Given the description of an element on the screen output the (x, y) to click on. 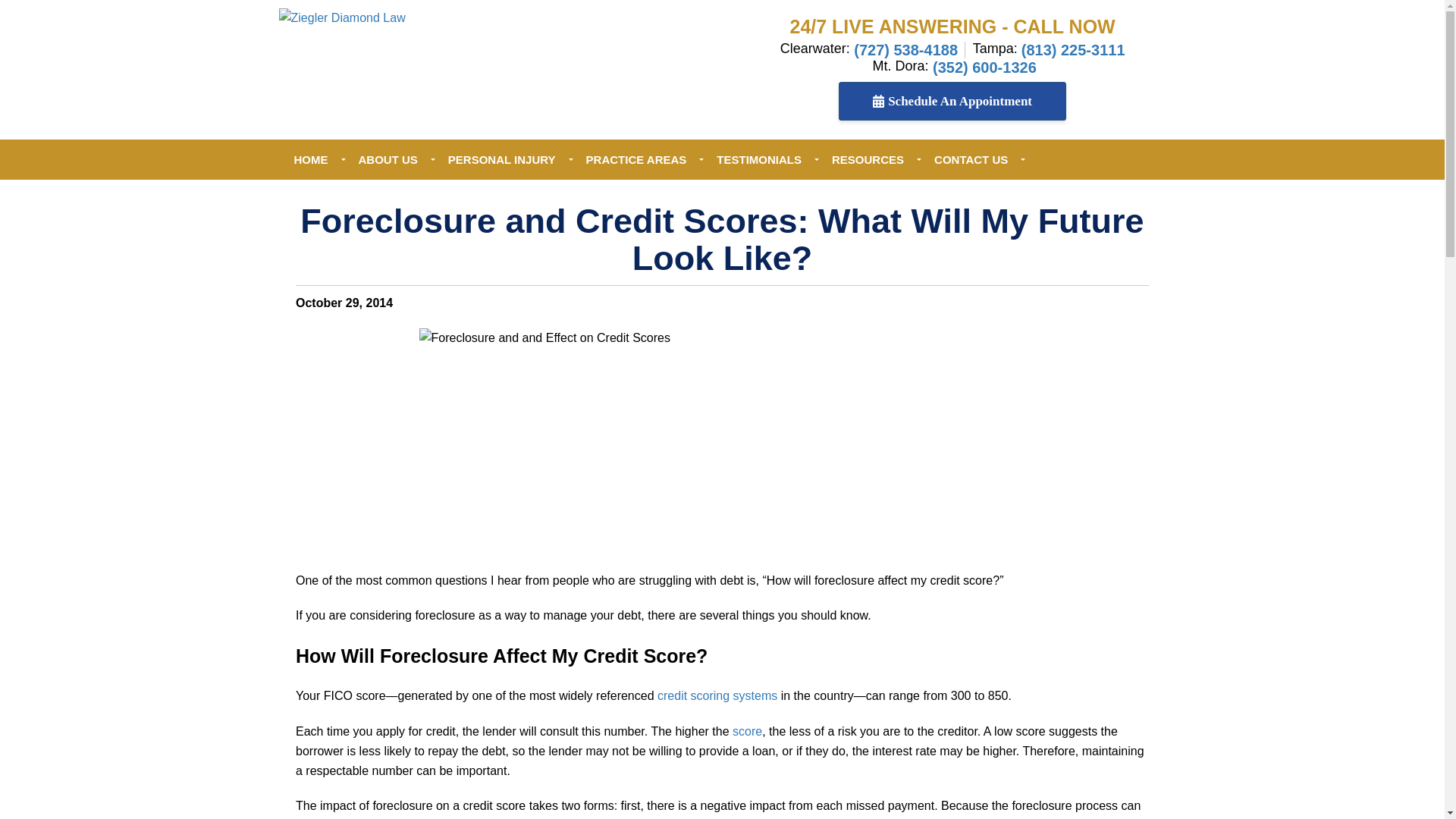
HOME (311, 159)
Schedule An Appointment (951, 100)
ABOUT US (387, 159)
PRACTICE AREAS (635, 159)
PERSONAL INJURY (501, 159)
